Given the description of an element on the screen output the (x, y) to click on. 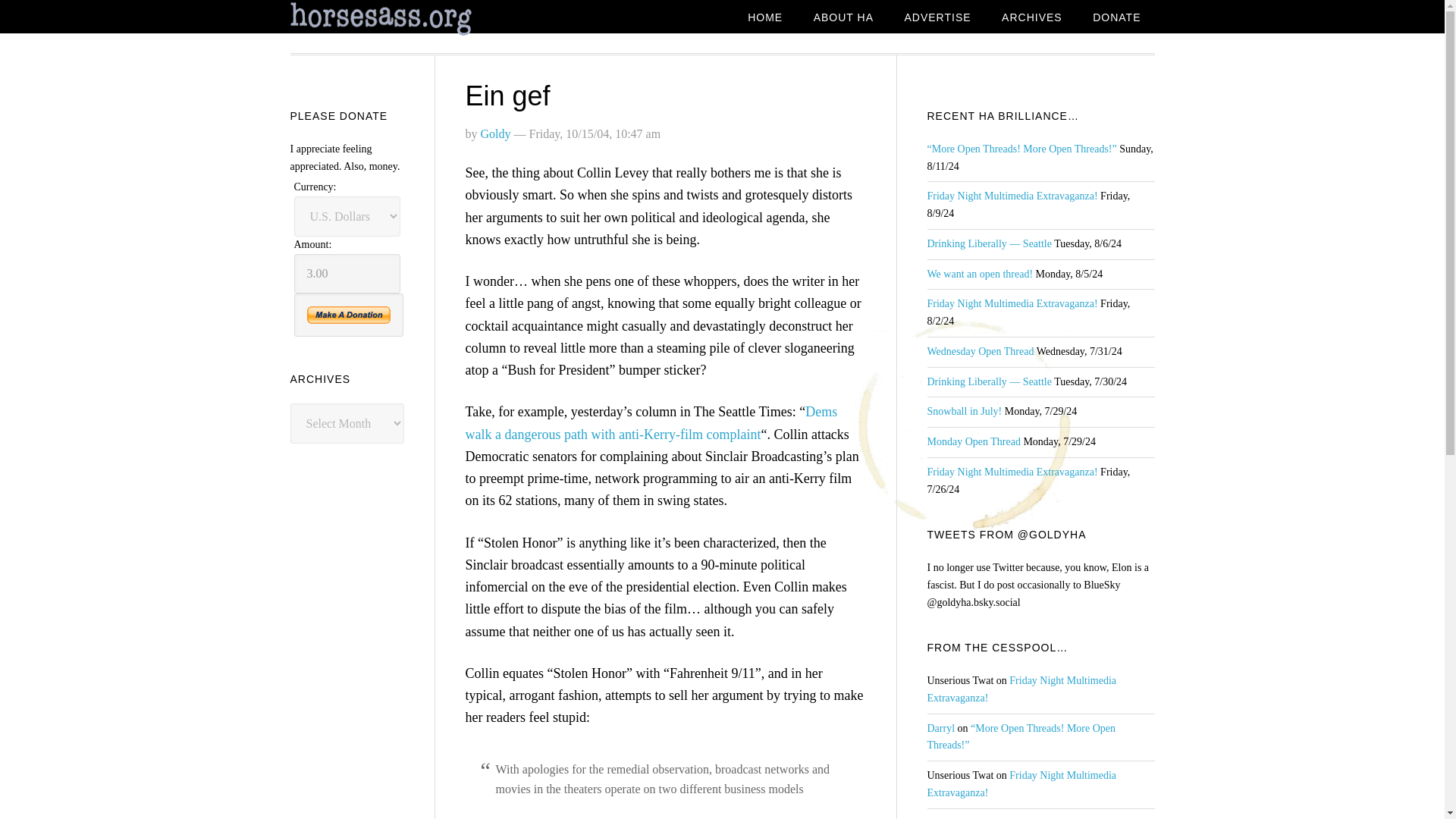
We want an open thread! (979, 274)
HORSESASS.ORG (410, 19)
Friday Night Multimedia Extravaganza! (1021, 688)
Goldy (495, 133)
3.00 (347, 273)
Friday Night Multimedia Extravaganza! (1011, 303)
Friday Night Multimedia Extravaganza! (1011, 195)
Dems walk a dangerous path with anti-Kerry-film complaint (651, 422)
Friday Night Multimedia Extravaganza! (1021, 783)
Monday Open Thread (973, 441)
